Given the description of an element on the screen output the (x, y) to click on. 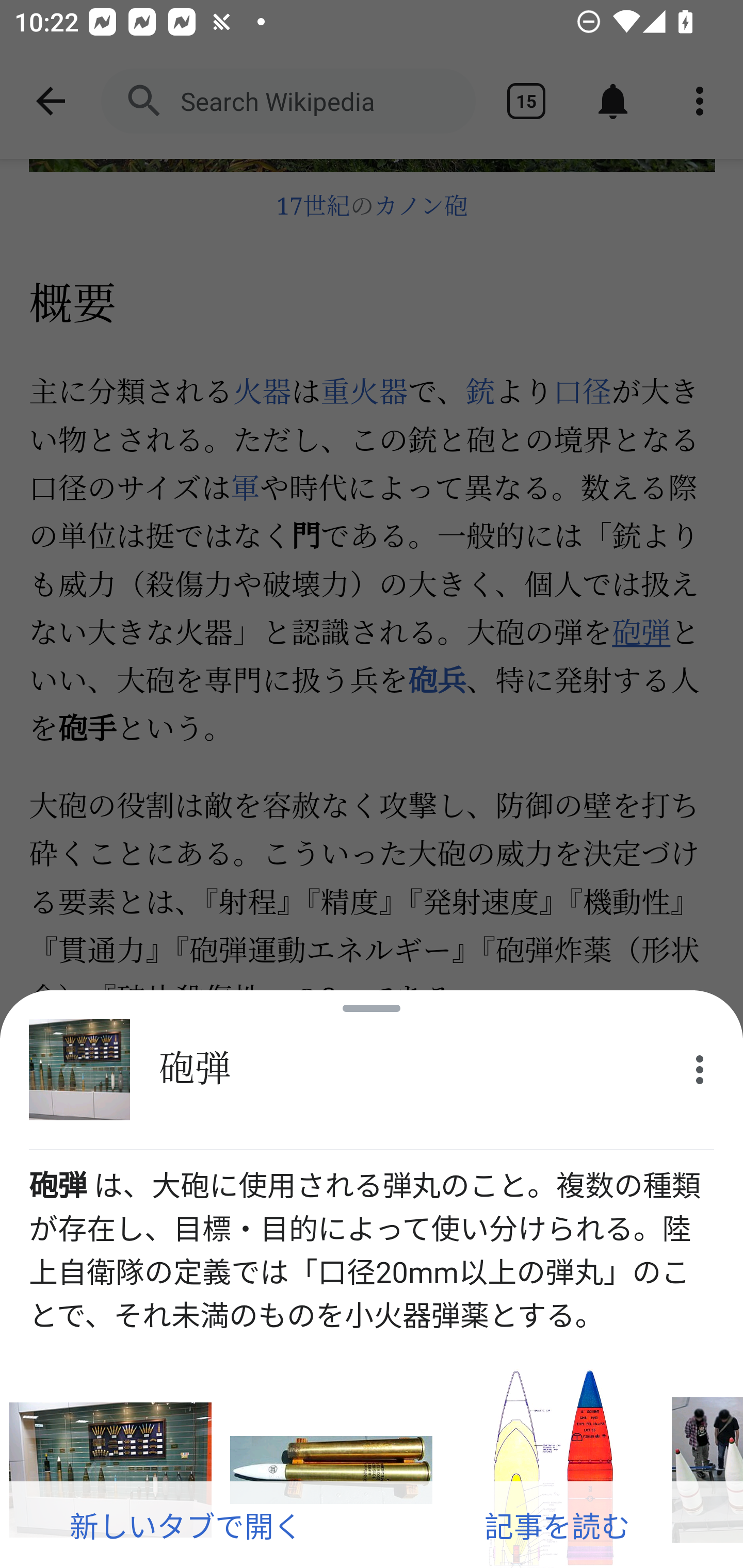
砲弾 More options (371, 1069)
More options (699, 1070)
新しいタブで開く (185, 1524)
記事を読む (557, 1524)
